Given the description of an element on the screen output the (x, y) to click on. 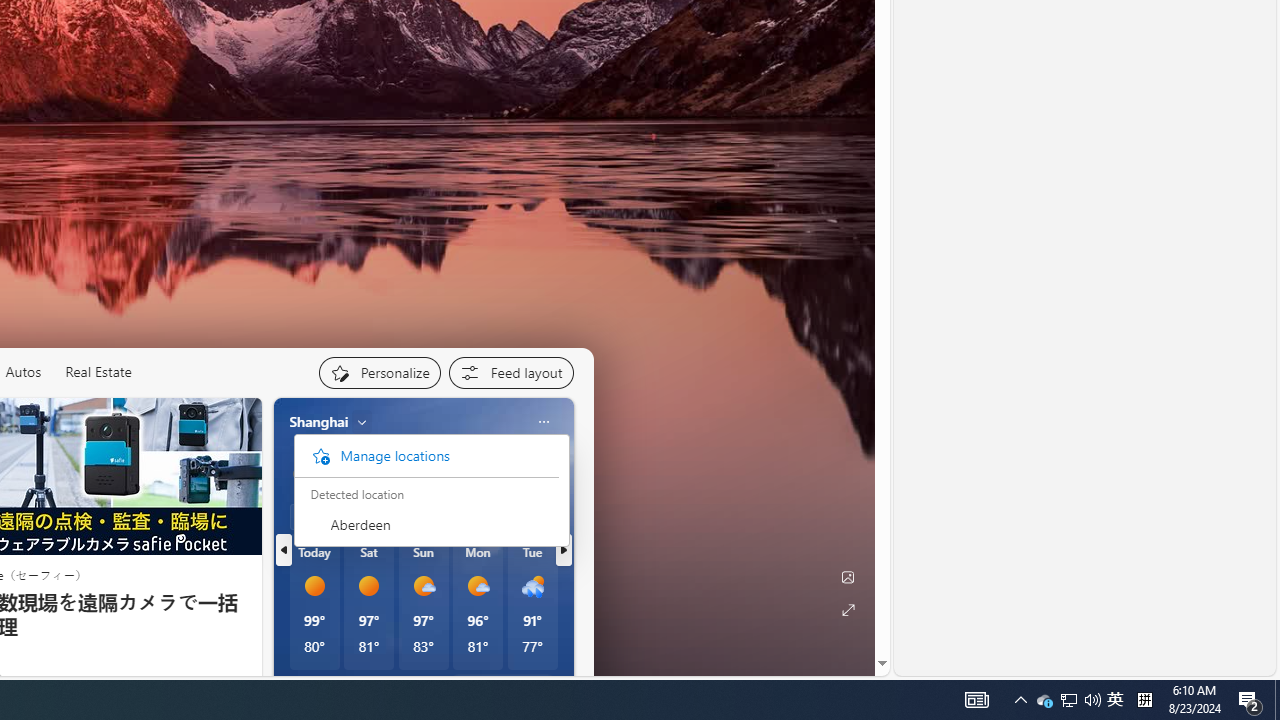
Feed settings (510, 372)
Personalize your feed" (379, 372)
Class: interest-menu (426, 524)
Rain showers (532, 585)
